Given the description of an element on the screen output the (x, y) to click on. 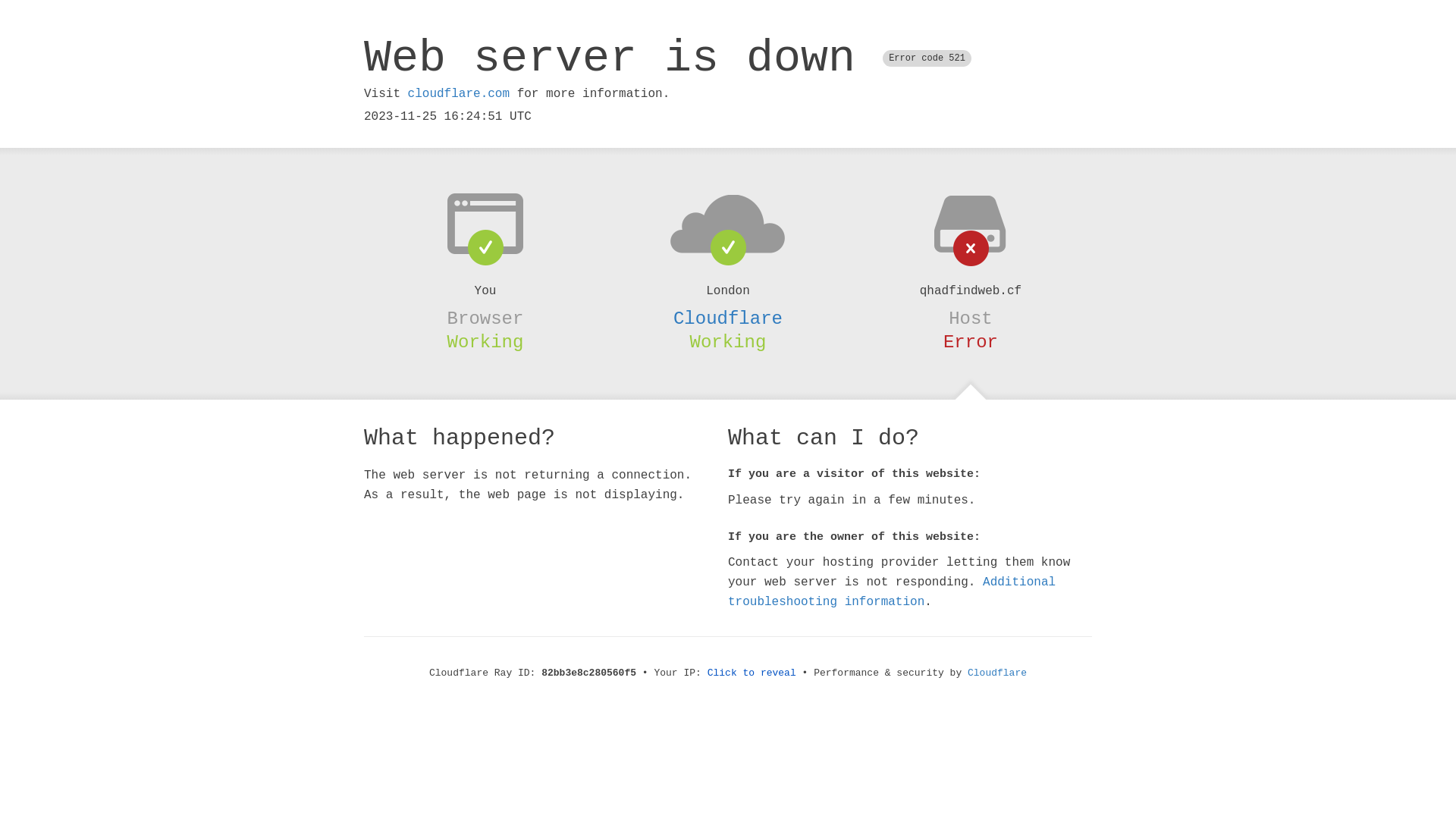
Cloudflare Element type: text (727, 318)
cloudflare.com Element type: text (458, 93)
Click to reveal Element type: text (751, 672)
Cloudflare Element type: text (996, 672)
Additional troubleshooting information Element type: text (891, 591)
